Given the description of an element on the screen output the (x, y) to click on. 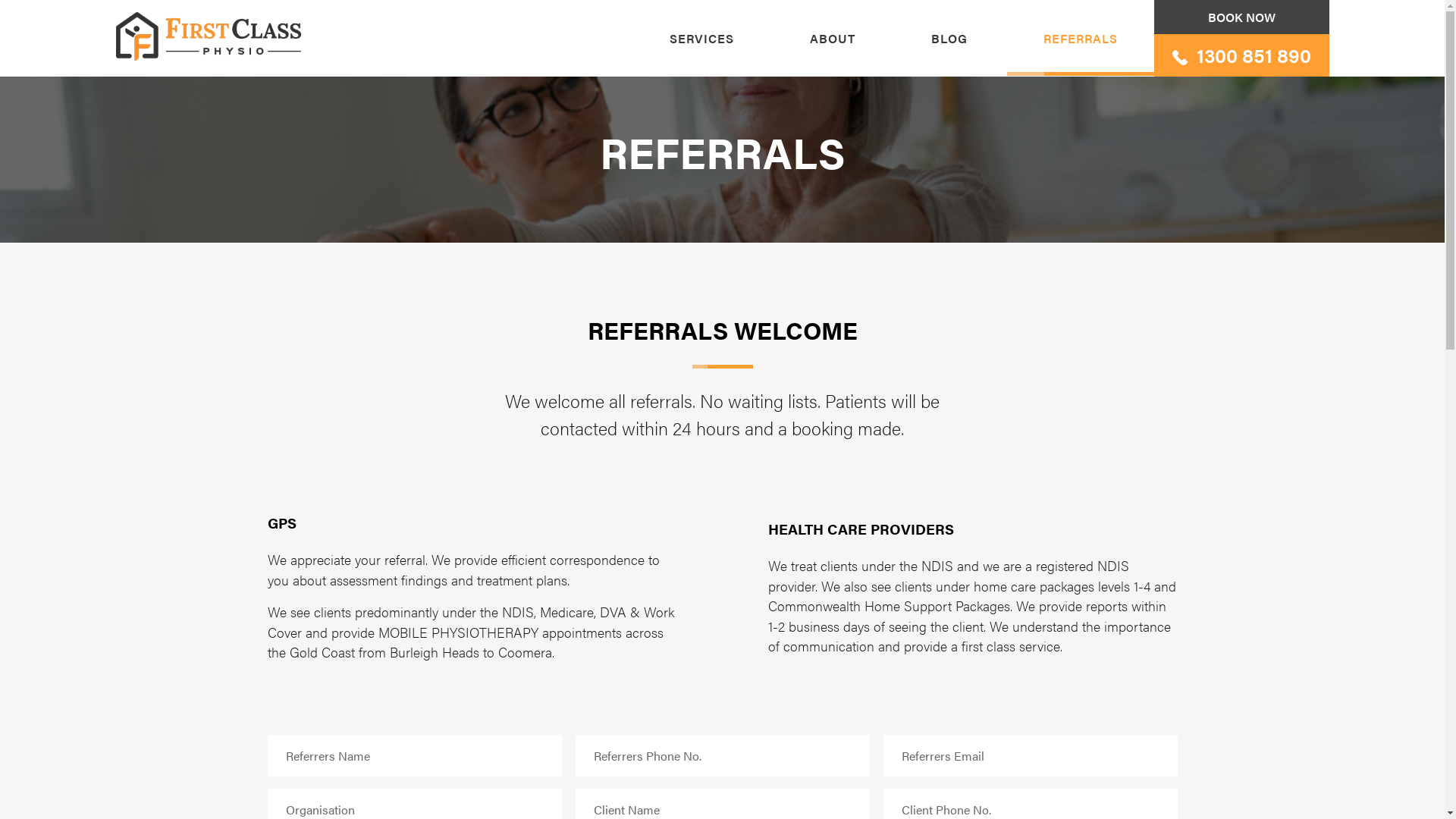
1300 851 890 Element type: text (1241, 55)
BOOK NOW Element type: text (1241, 17)
ABOUT Element type: text (832, 38)
REFERRALS Element type: text (1080, 38)
SERVICES Element type: text (700, 38)
BLOG Element type: text (949, 38)
